Given the description of an element on the screen output the (x, y) to click on. 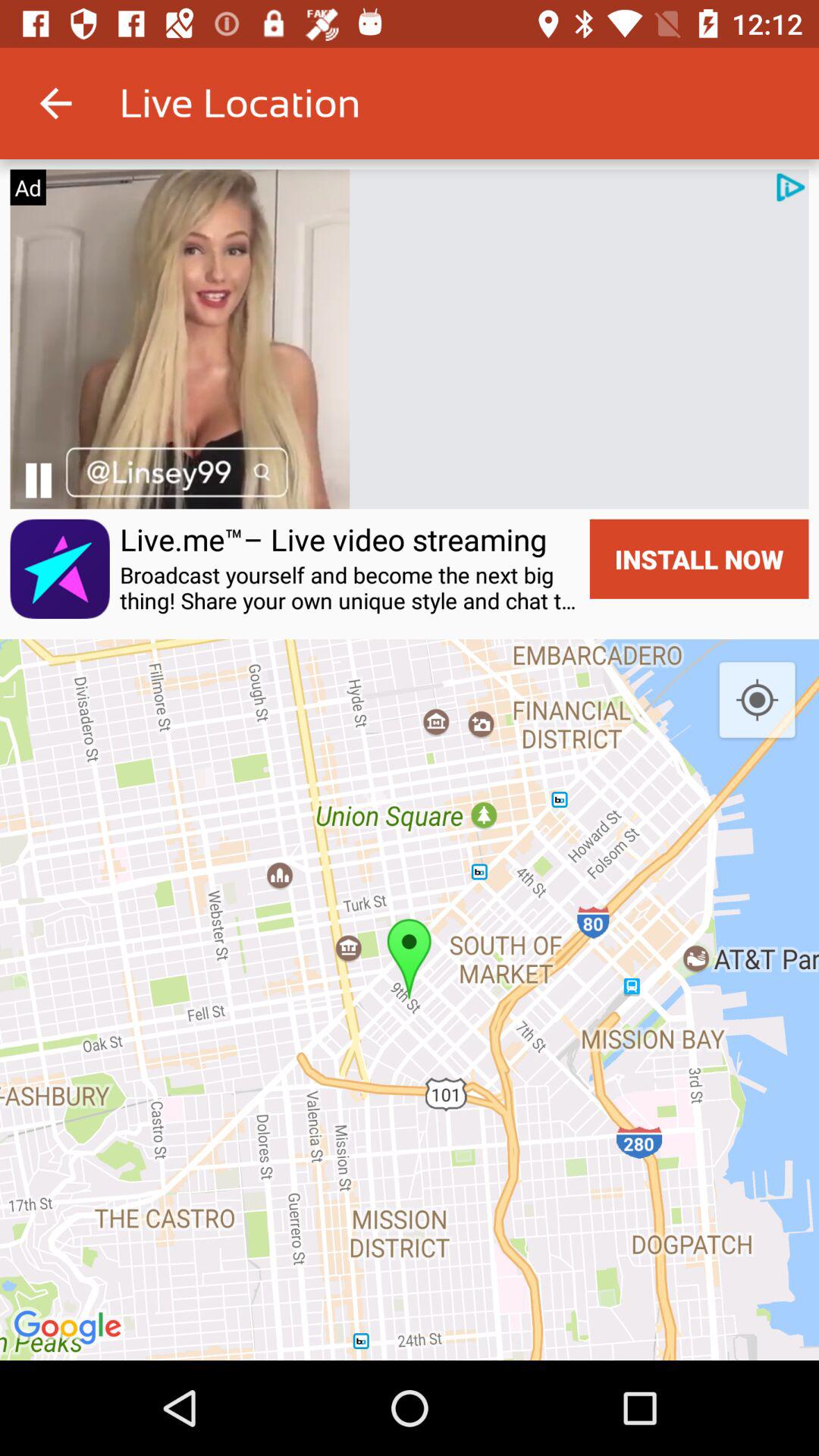
press item next to live me live (59, 568)
